Given the description of an element on the screen output the (x, y) to click on. 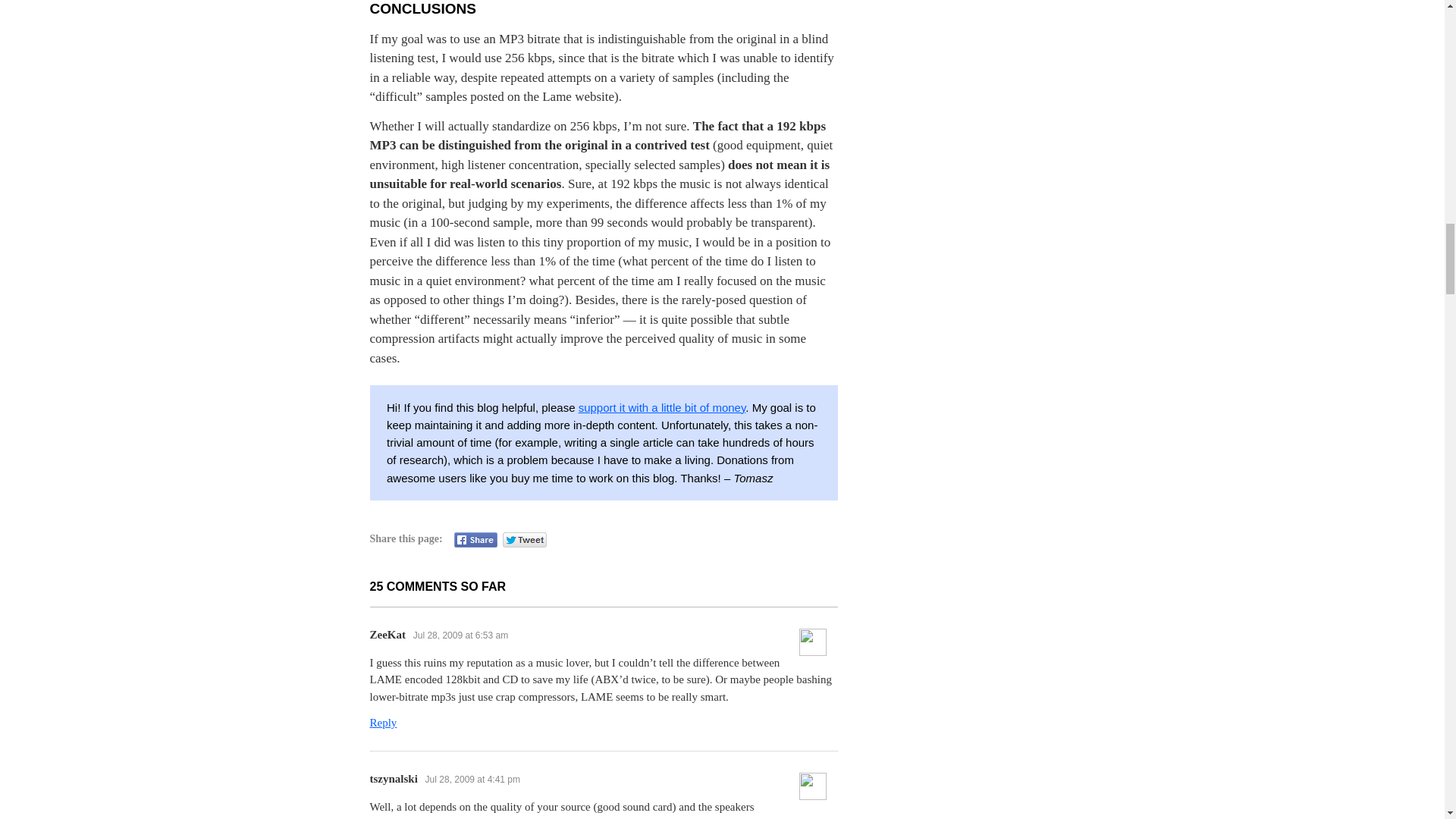
Permanent Link to this comment (472, 778)
Jul 28, 2009 at 4:41 pm (472, 778)
Share this page on Twitter (524, 539)
Share this page on Facebook (475, 539)
support it with a little bit of money (661, 407)
Permanent Link to this comment (460, 634)
Reply (383, 722)
Jul 28, 2009 at 6:53 am (460, 634)
